Given the description of an element on the screen output the (x, y) to click on. 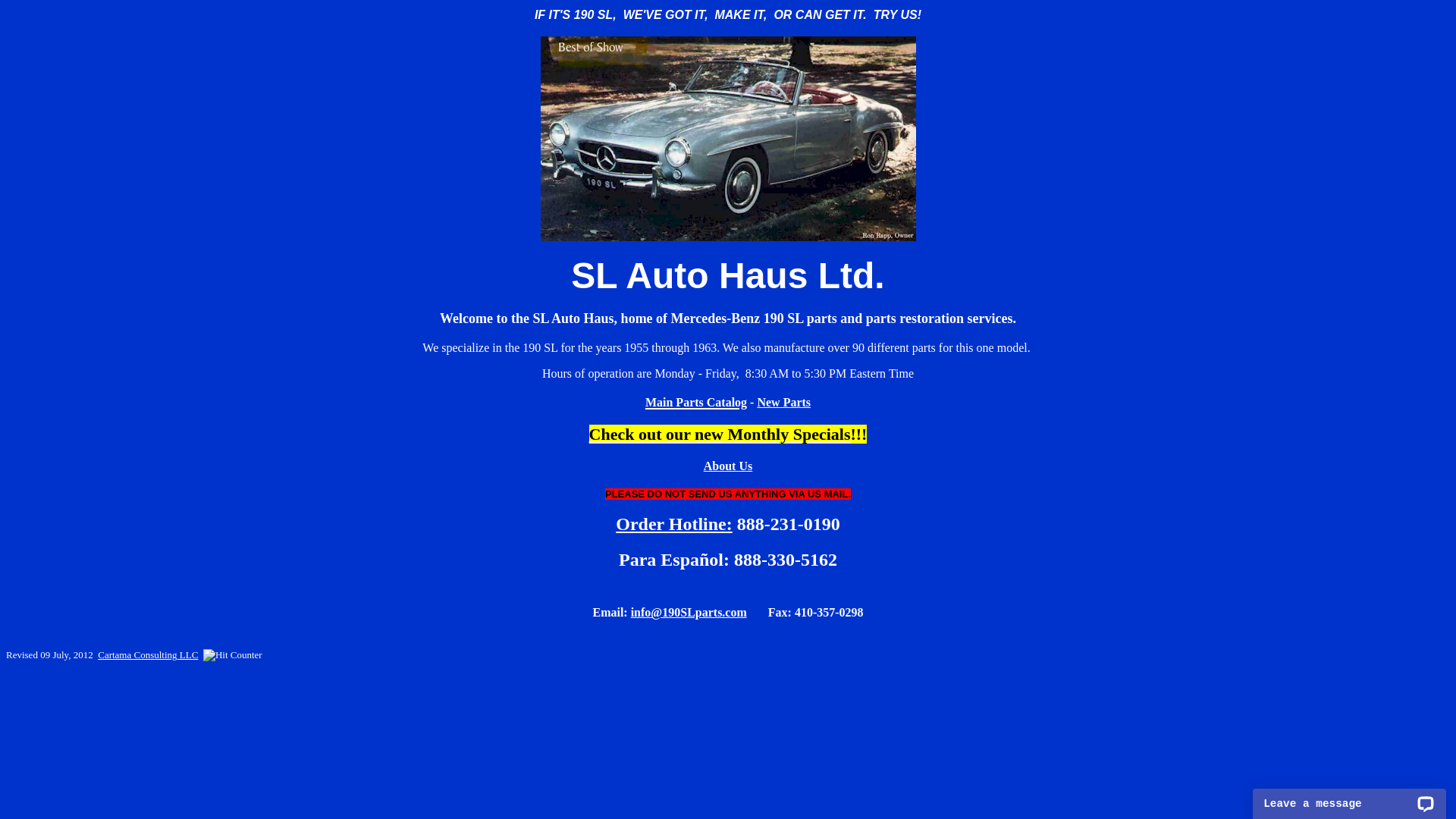
Main Parts Catalog Element type: text (695, 400)
New Parts Element type: text (783, 401)
About Us Element type: text (727, 465)
Check out our new Monthly Specials Element type: text (719, 433)
info@190SLparts.com Element type: text (688, 611)
Cartama Consulting LLC Element type: text (147, 654)
